Given the description of an element on the screen output the (x, y) to click on. 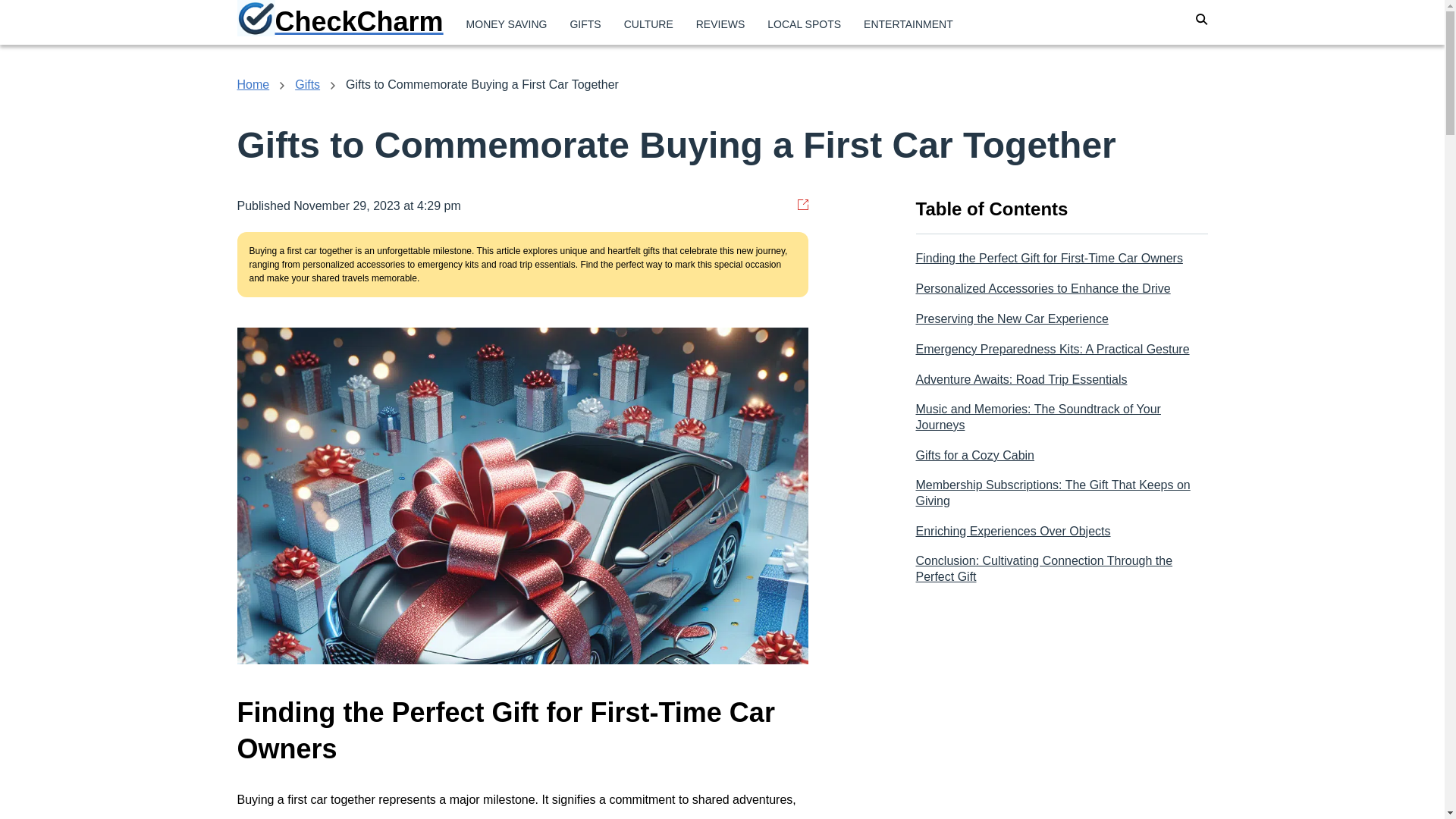
LOCAL SPOTS (804, 24)
ENTERTAINMENT (908, 24)
GIFTS (584, 24)
MONEY SAVING (506, 24)
CheckCharm (338, 22)
REVIEWS (720, 24)
CULTURE (648, 24)
Search (905, 107)
